Given the description of an element on the screen output the (x, y) to click on. 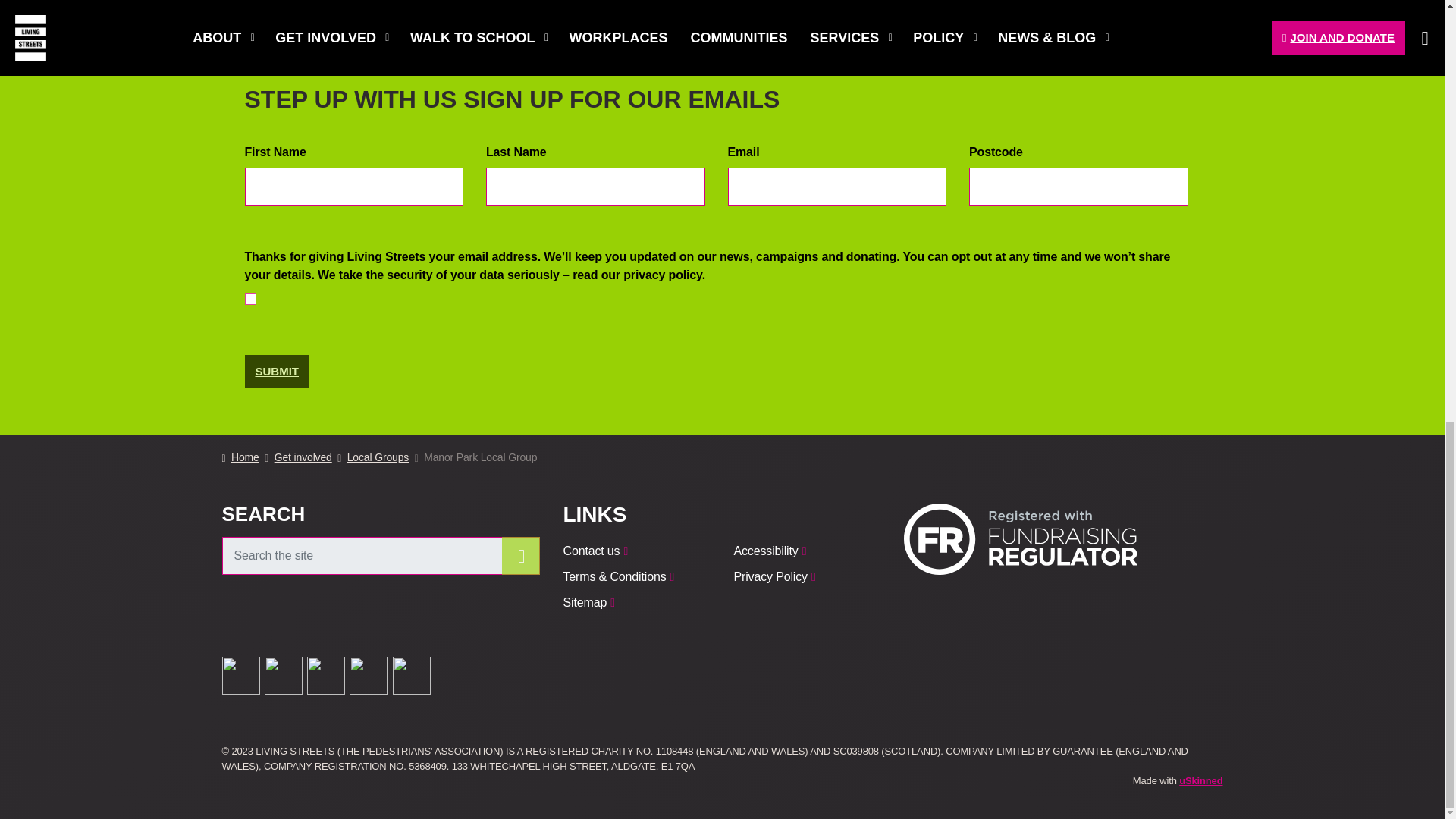
Submit (276, 371)
